Given the description of an element on the screen output the (x, y) to click on. 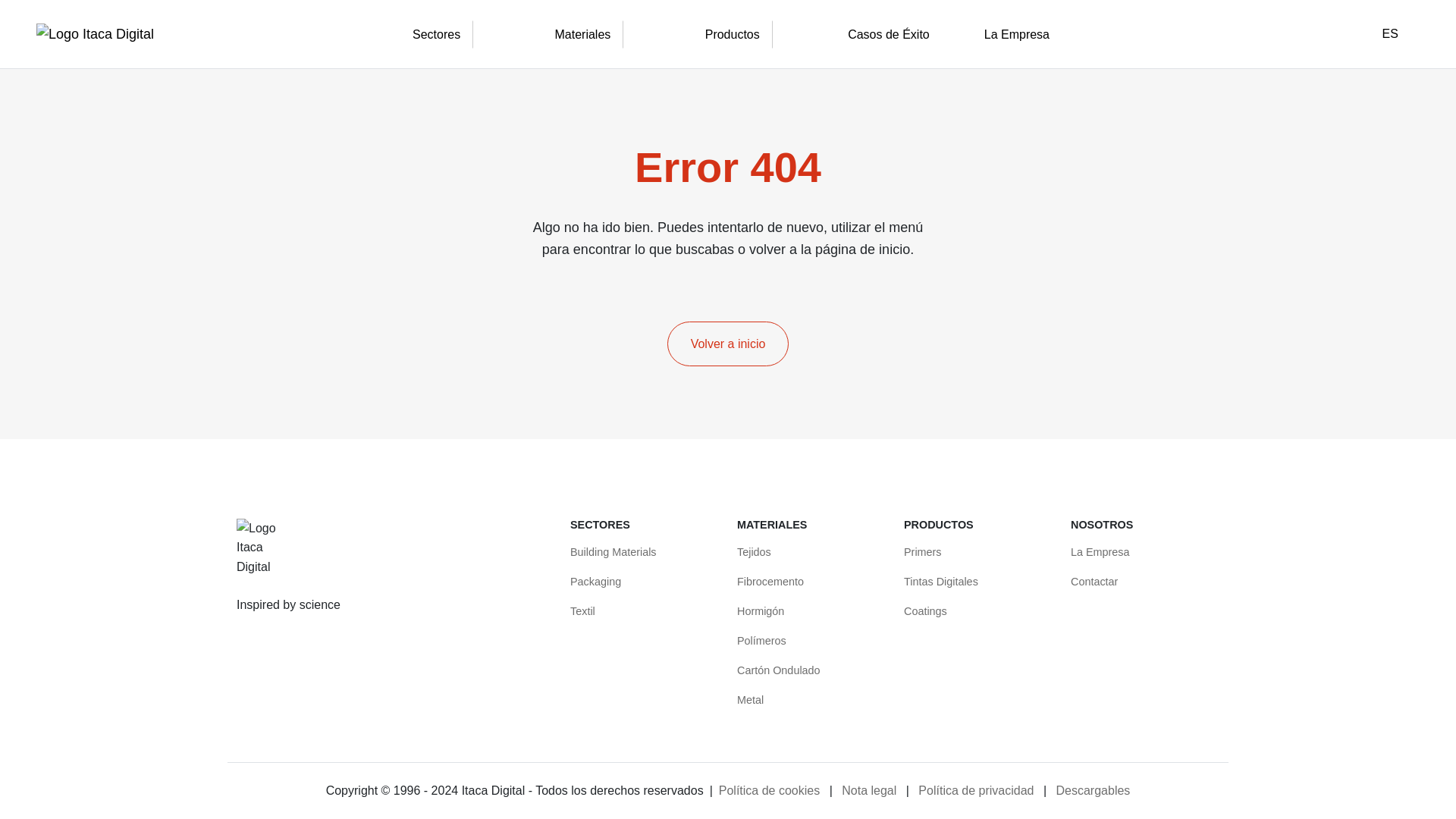
Materiales (583, 34)
Productos (732, 34)
Sectores (435, 34)
